Given the description of an element on the screen output the (x, y) to click on. 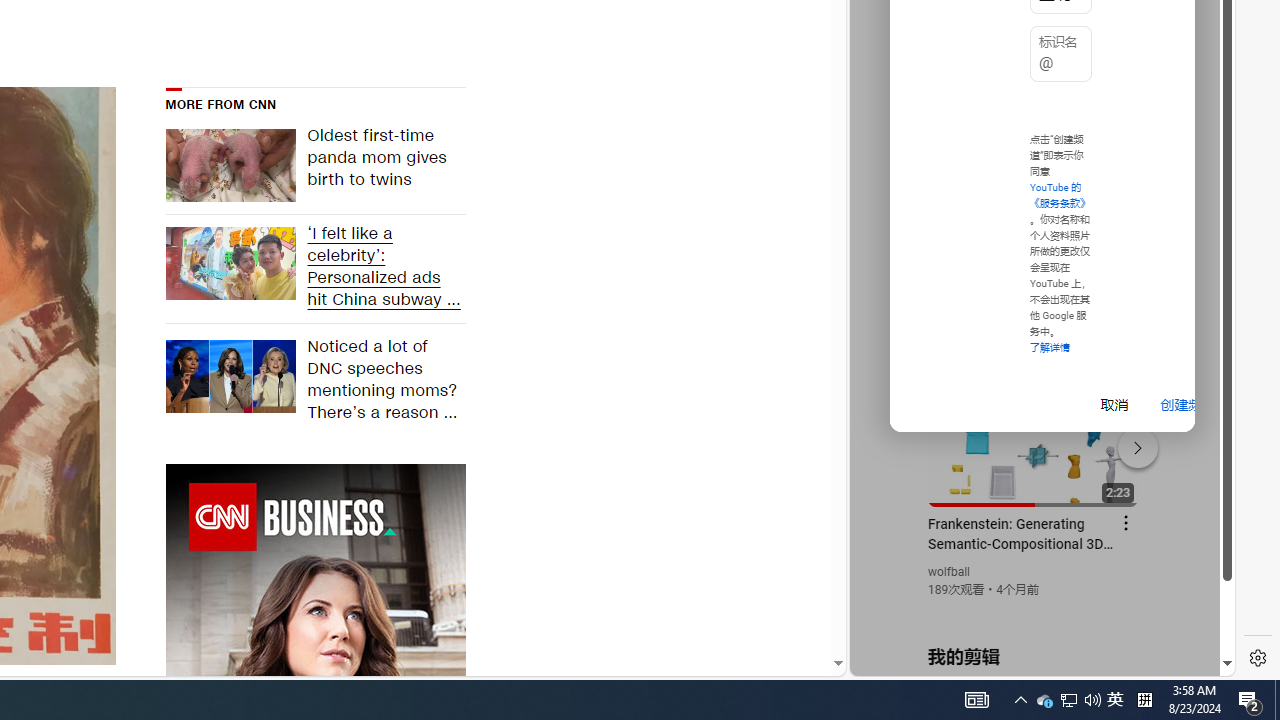
Class: dict_pnIcon rms_img (1028, 660)
you (1034, 609)
#you (1034, 439)
Oldest first-time panda mom gives birth to twins (379, 165)
